Given the description of an element on the screen output the (x, y) to click on. 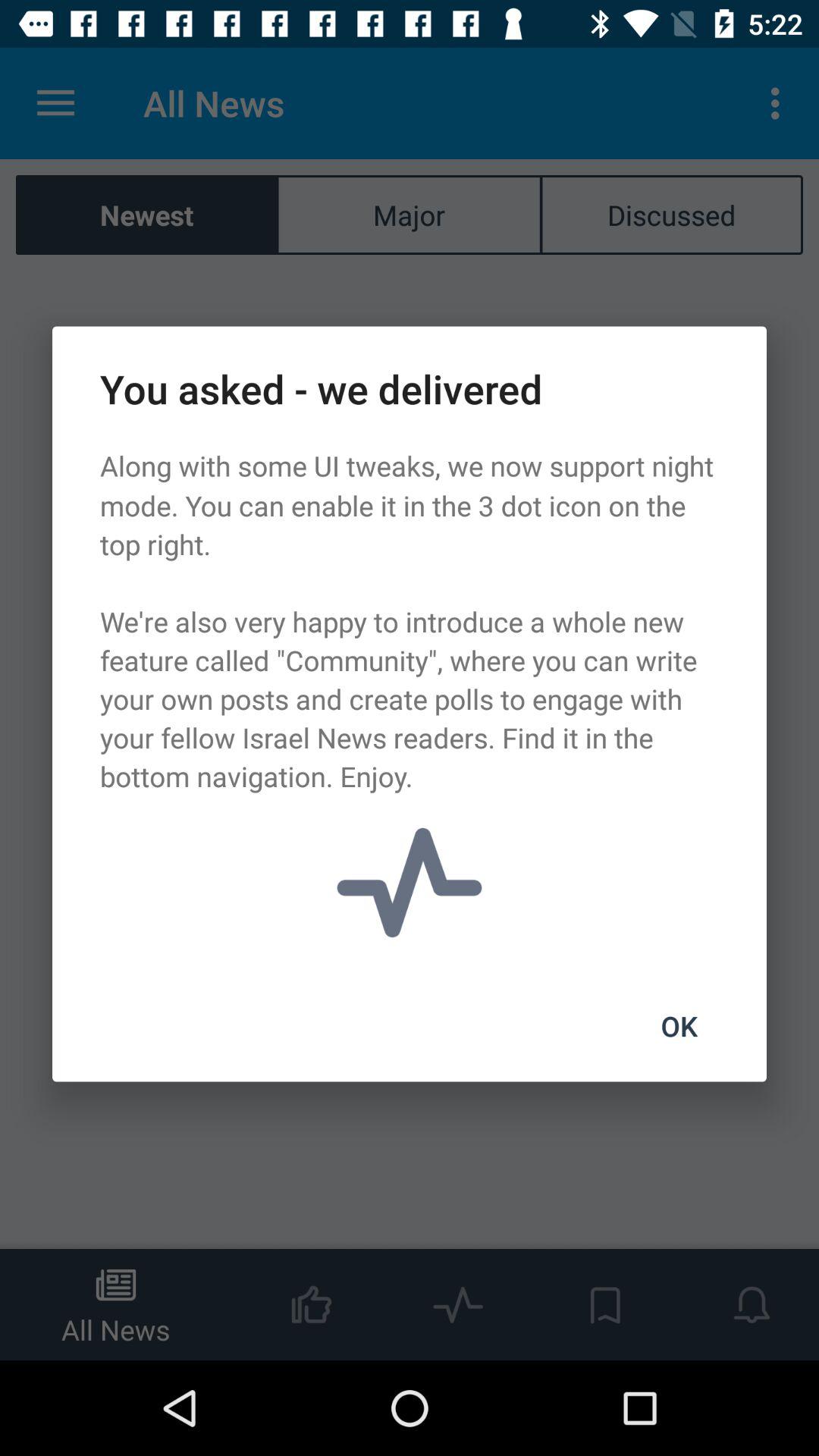
launch the item at the bottom right corner (678, 1025)
